Given the description of an element on the screen output the (x, y) to click on. 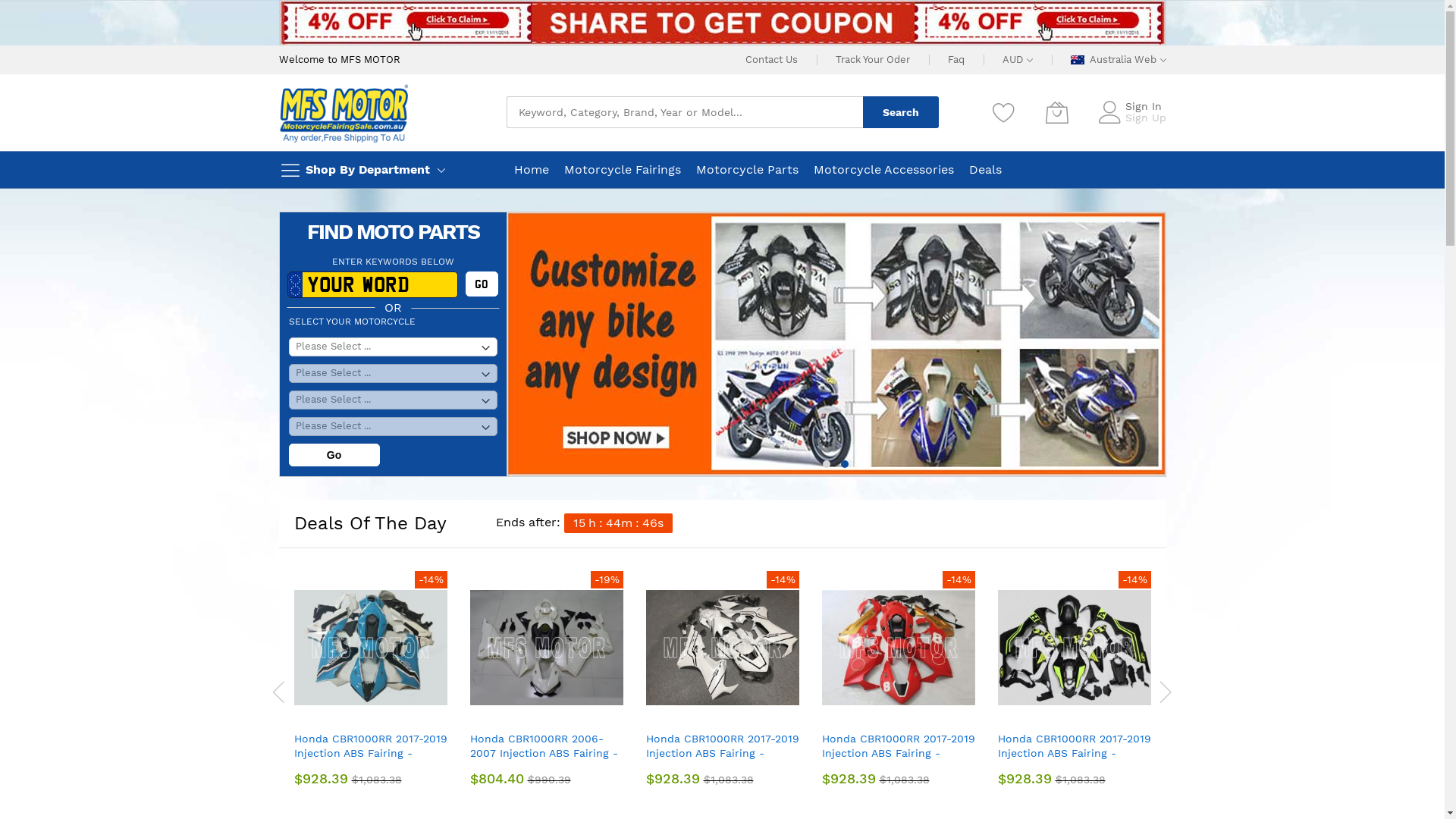
Track Your Oder Element type: text (872, 59)
-14% Element type: text (898, 647)
Search Element type: text (900, 112)
Sign In Element type: text (1143, 106)
-19% Element type: text (546, 647)
My Cart Element type: text (1055, 112)
Deals Element type: text (985, 169)
Home Element type: text (531, 169)
-14% Element type: text (722, 647)
Share to get discount coupon Element type: hover (722, 22)
-14% Element type: text (370, 647)
Faq Element type: text (955, 59)
Motorcycle Accessories Element type: text (882, 169)
Sign Up Element type: text (1145, 117)
Go Element type: text (333, 454)
Contact Us Element type: text (770, 59)
Motorcycle Parts Element type: text (747, 169)
MFS MOTOR Element type: text (343, 112)
Motorcycle Fairings Element type: text (622, 169)
Go Element type: text (481, 283)
-14% Element type: text (1074, 647)
